Given the description of an element on the screen output the (x, y) to click on. 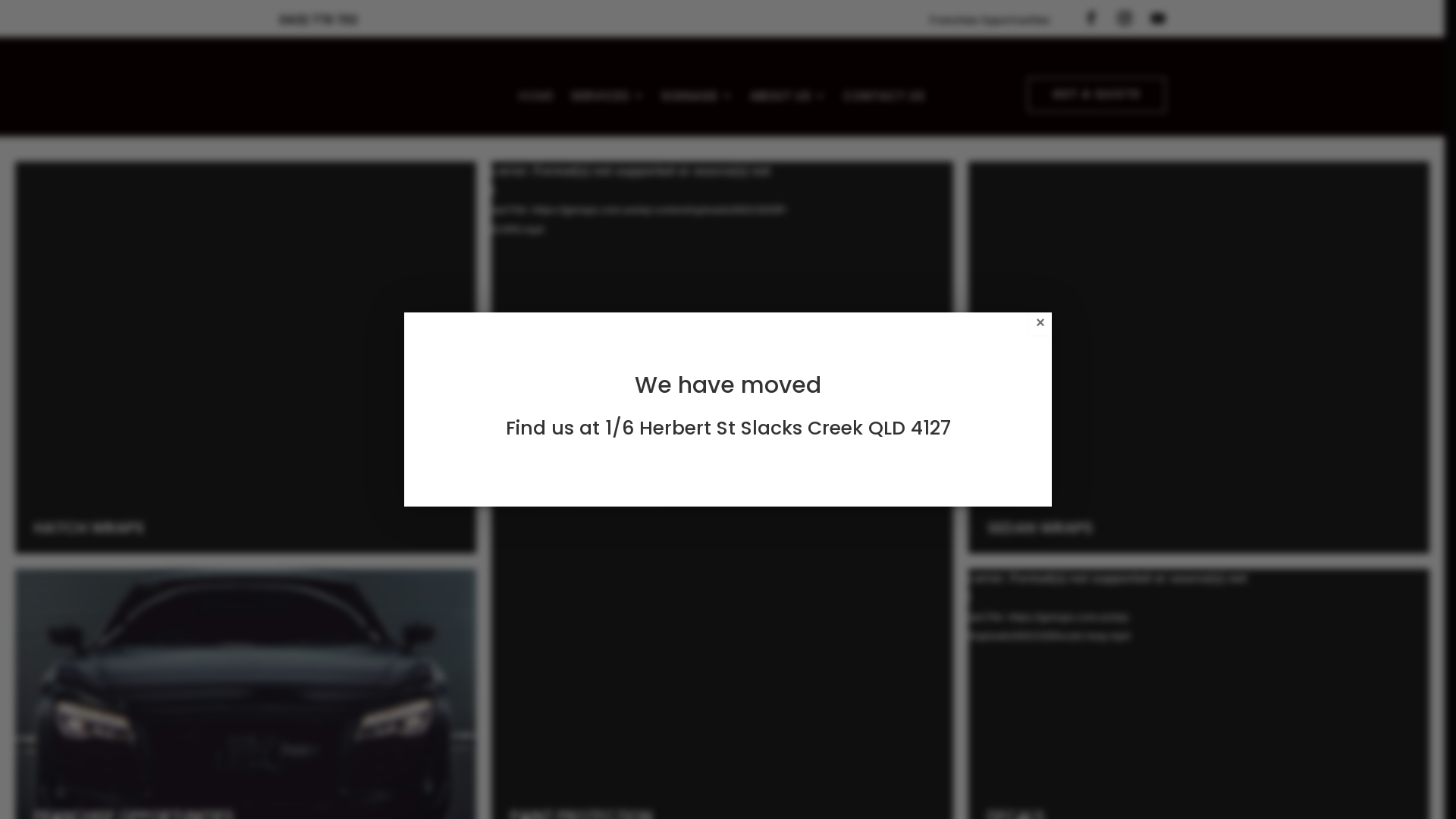
SERVICES Element type: text (607, 98)
Follow on Facebook Element type: hover (1090, 17)
GET A QUOTE Element type: text (1096, 94)
SIGNAGE Element type: text (697, 98)
HOME Element type: text (536, 98)
Follow on Instagram Element type: hover (1124, 17)
Follow on Youtube Element type: hover (1157, 17)
CONTACT US Element type: text (884, 98)
Franchise Opportunities Element type: text (989, 22)
ABOUT US Element type: text (787, 98)
